Given the description of an element on the screen output the (x, y) to click on. 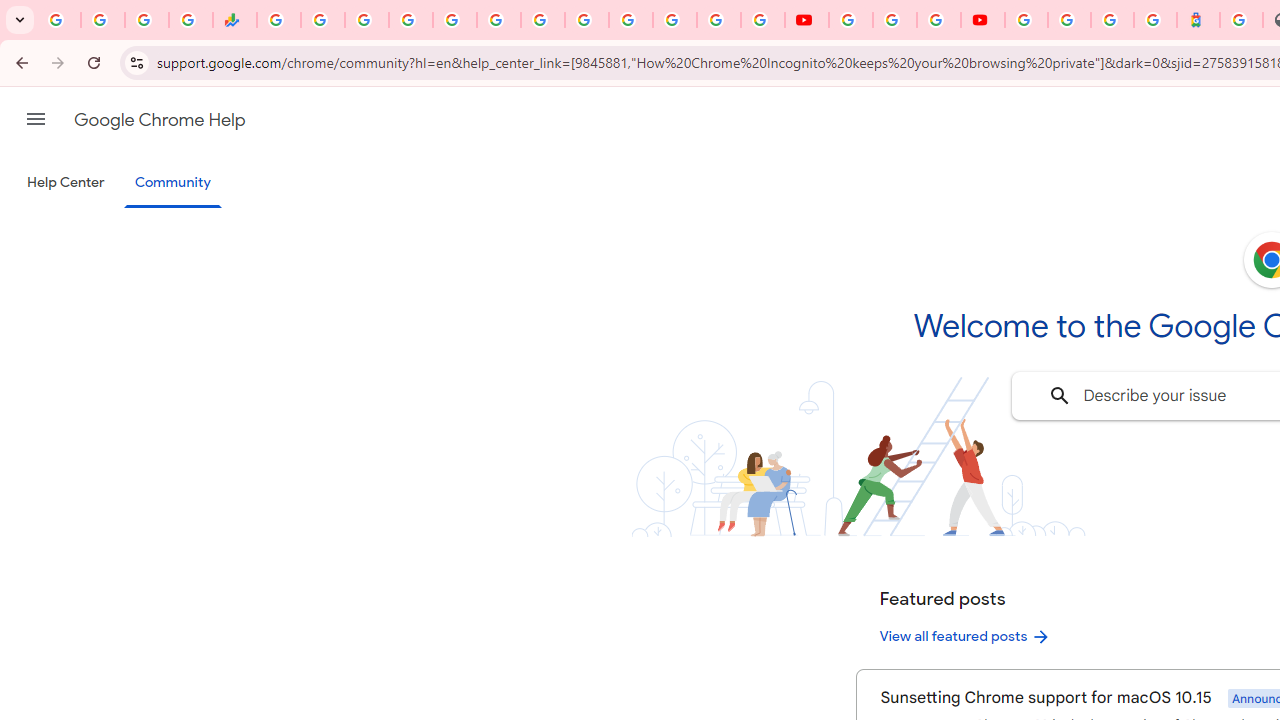
Google Chrome Help (159, 119)
Google Account Help (894, 20)
Content Creator Programs & Opportunities - YouTube Creators (982, 20)
Create your Google Account (938, 20)
Help Center (65, 183)
Sign in - Google Accounts (410, 20)
YouTube (850, 20)
